Given the description of an element on the screen output the (x, y) to click on. 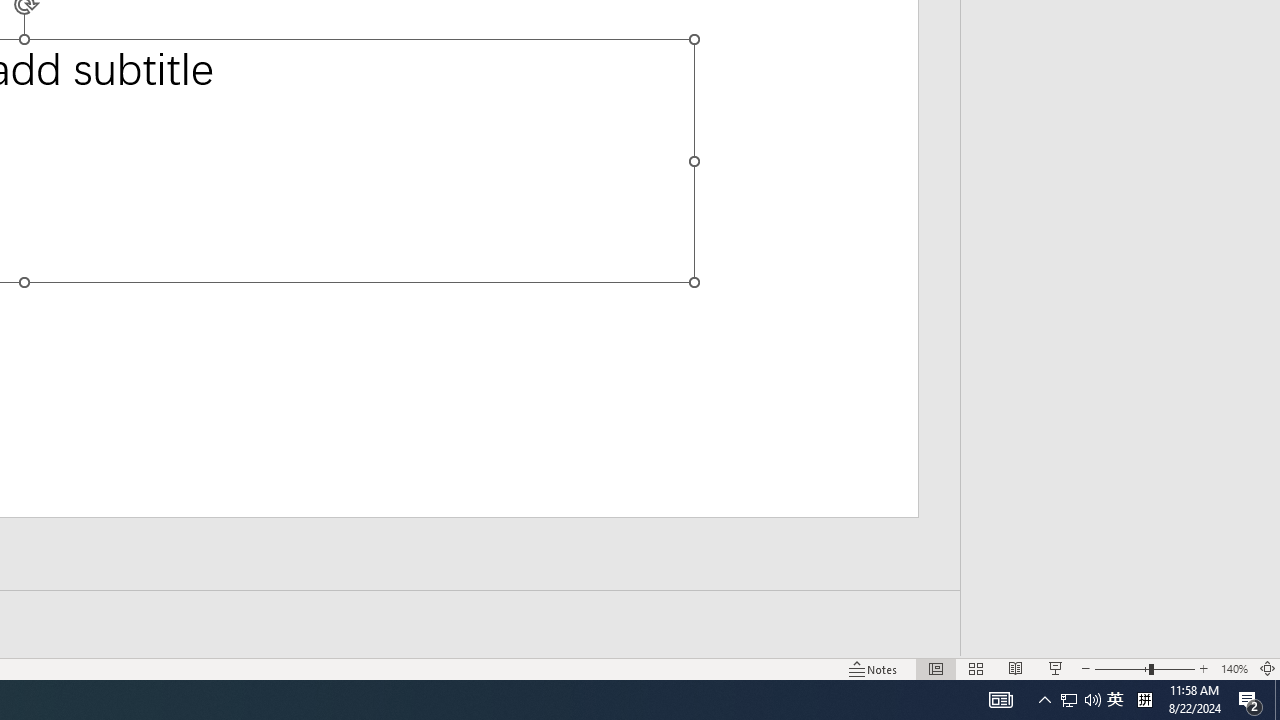
Zoom 140% (1234, 668)
